Given the description of an element on the screen output the (x, y) to click on. 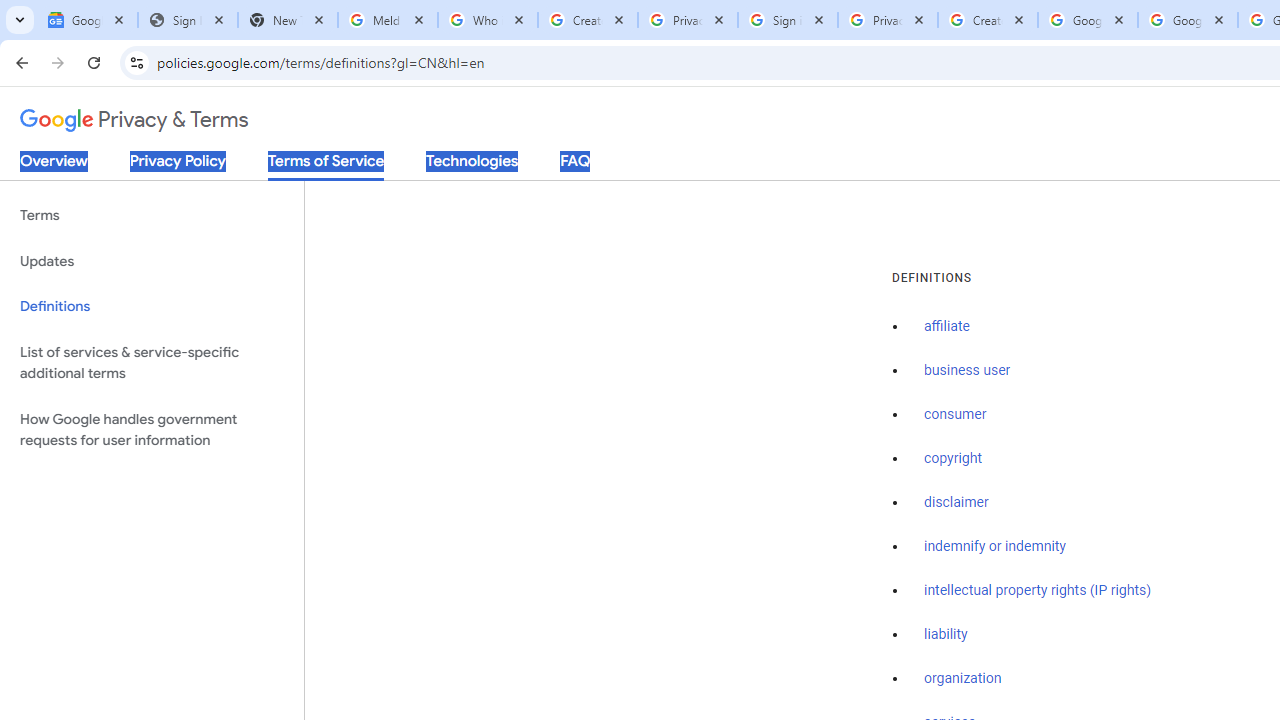
Create your Google Account (587, 20)
Who is my administrator? - Google Account Help (487, 20)
How Google handles government requests for user information (152, 429)
Sign in - Google Accounts (788, 20)
Google News (87, 20)
